Given the description of an element on the screen output the (x, y) to click on. 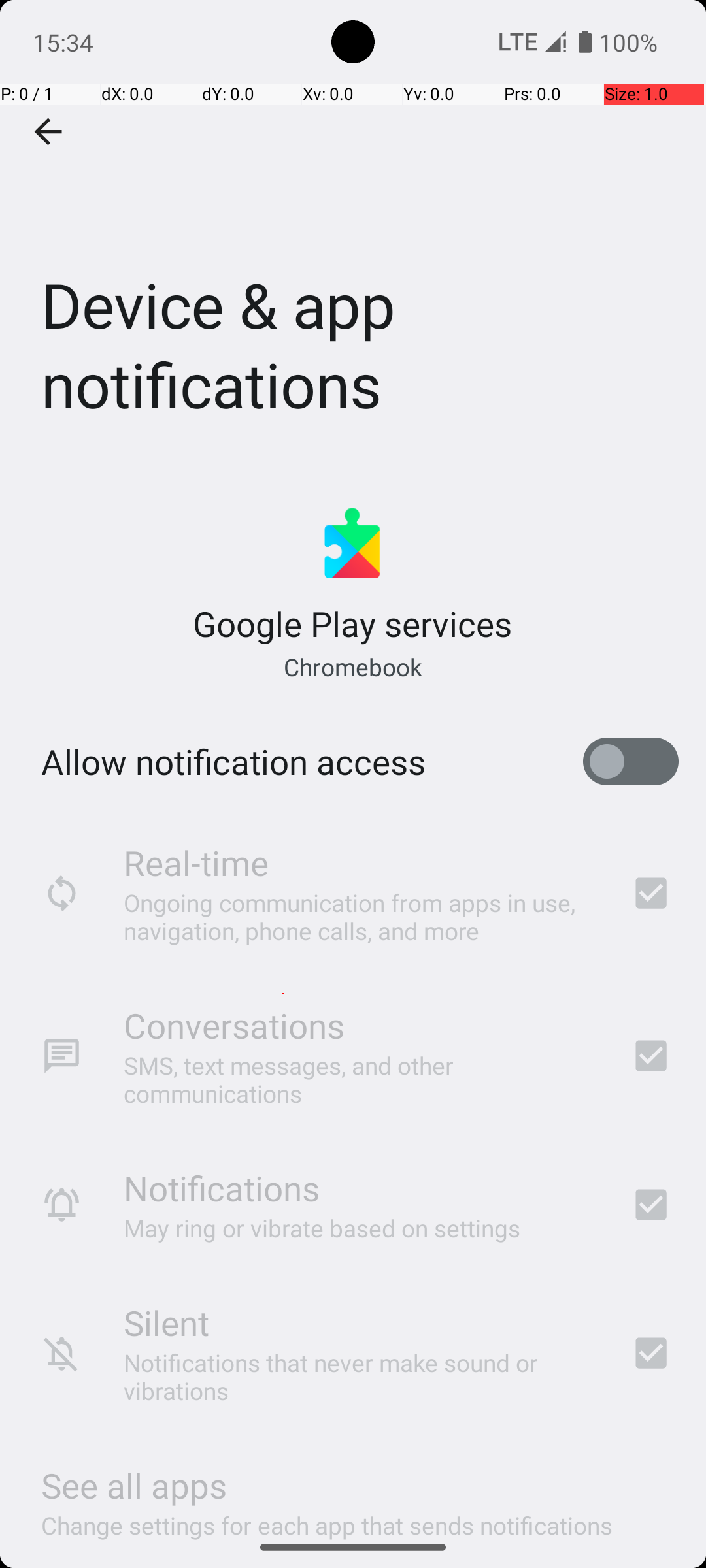
Chromebook Element type: android.widget.TextView (352, 666)
Allow notification access Element type: android.widget.TextView (233, 761)
Real-time Element type: android.widget.TextView (195, 862)
Ongoing communication from apps in use, navigation, phone calls, and more Element type: android.widget.TextView (359, 916)
SMS, text messages, and other communications Element type: android.widget.TextView (359, 1079)
May ring or vibrate based on settings Element type: android.widget.TextView (322, 1227)
Silent Element type: android.widget.TextView (166, 1322)
Notifications that never make sound or vibrations Element type: android.widget.TextView (359, 1376)
See all apps Element type: android.widget.TextView (133, 1485)
Change settings for each app that sends notifications Element type: android.widget.TextView (326, 1517)
